Given the description of an element on the screen output the (x, y) to click on. 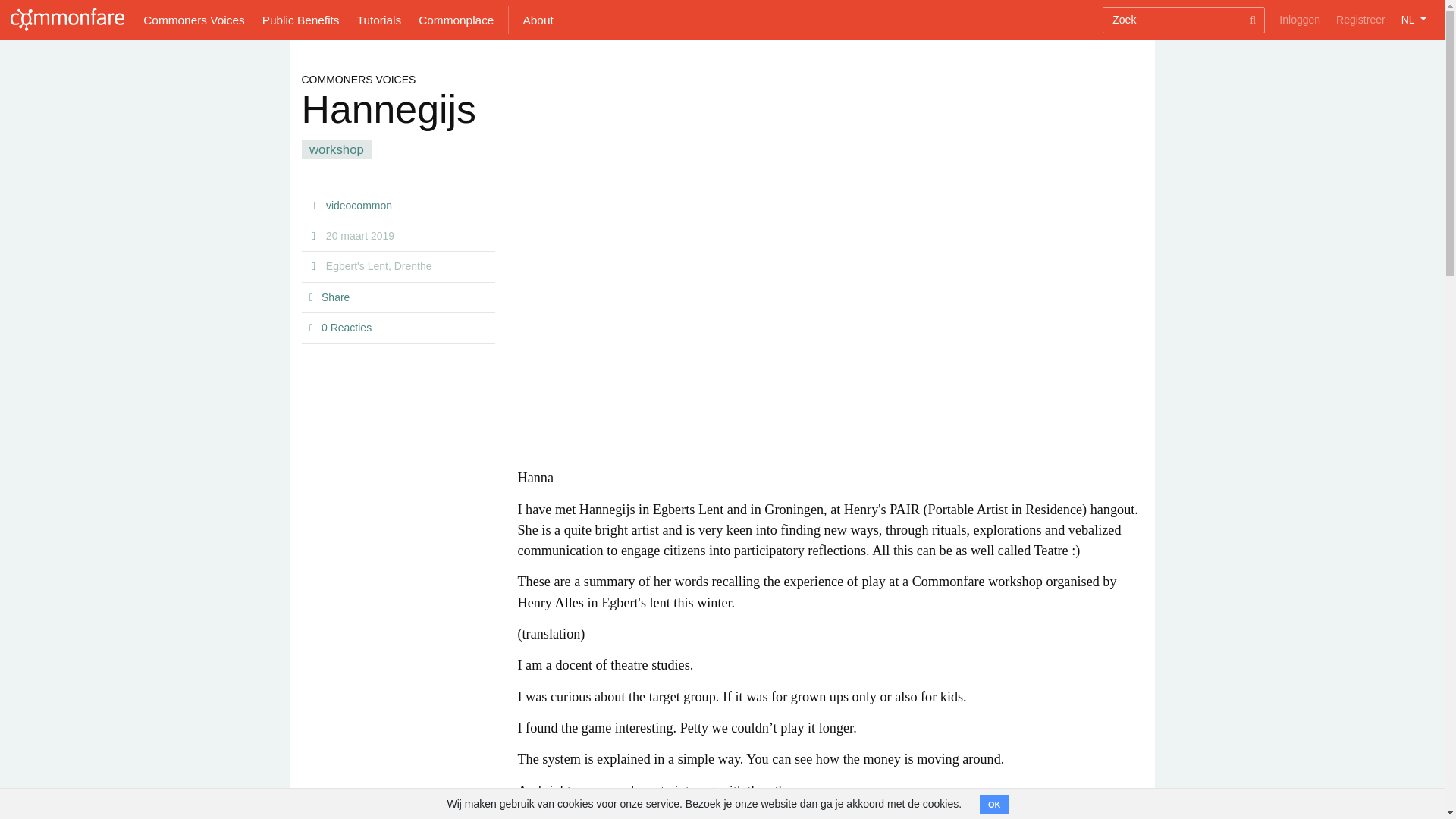
Commoners Voices (194, 19)
videocommon (358, 205)
NL (1413, 19)
Tutorials (378, 19)
workshop (336, 148)
Registreer (1360, 19)
About (537, 19)
Inloggen (1299, 19)
Share (335, 297)
Commonplace (456, 19)
